Given the description of an element on the screen output the (x, y) to click on. 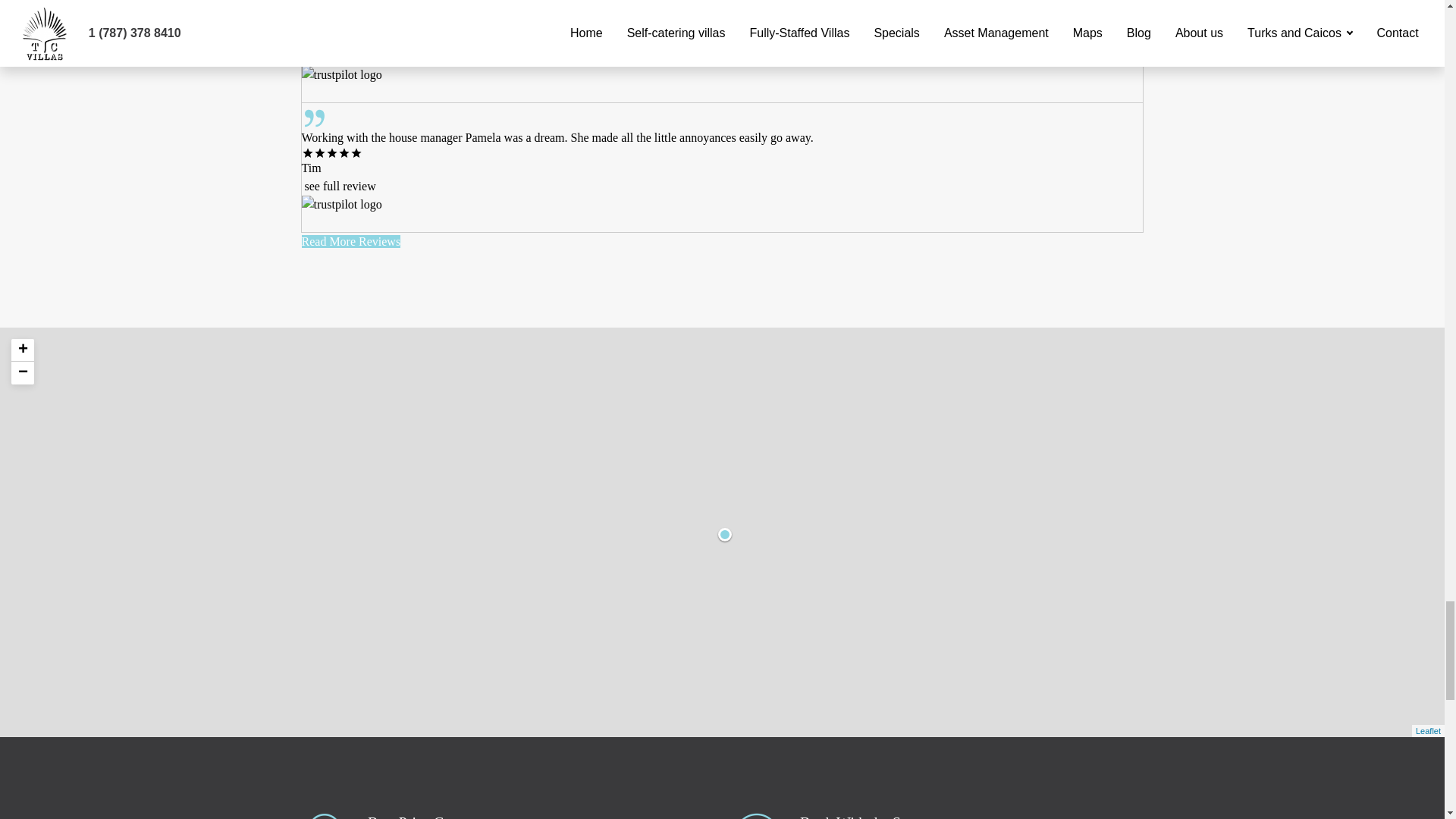
Leaflet (1428, 730)
Zoom out (22, 372)
Zoom in (22, 350)
A JS library for interactive maps (1428, 730)
